Given the description of an element on the screen output the (x, y) to click on. 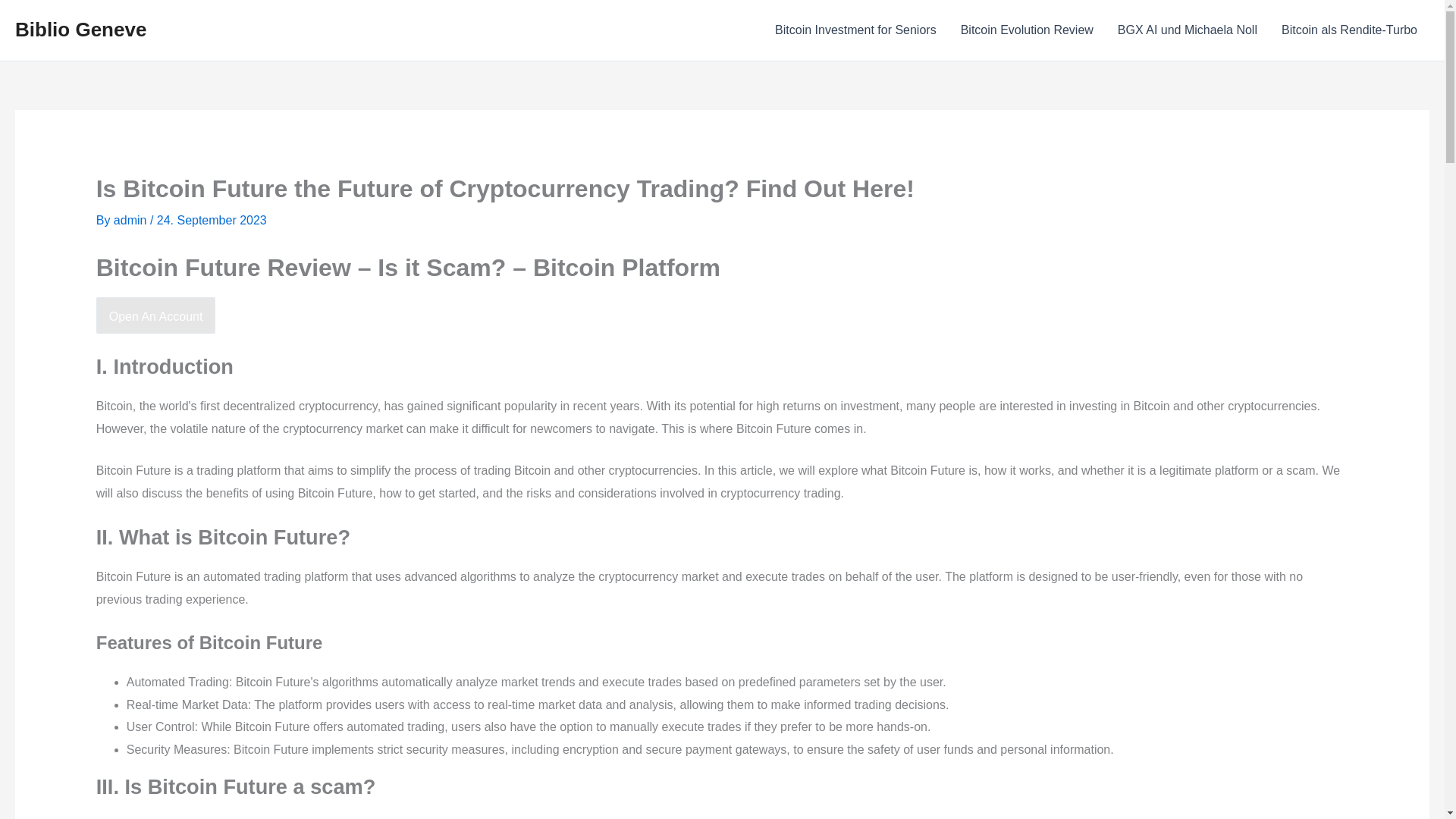
Open An Account (155, 315)
Open An Account (155, 316)
admin (131, 219)
View all posts by admin (131, 219)
Bitcoin als Rendite-Turbo (1349, 30)
BGX AI und Michaela Noll (1187, 30)
Bitcoin Investment for Seniors (855, 30)
Biblio Geneve (80, 29)
Bitcoin Evolution Review (1027, 30)
